Given the description of an element on the screen output the (x, y) to click on. 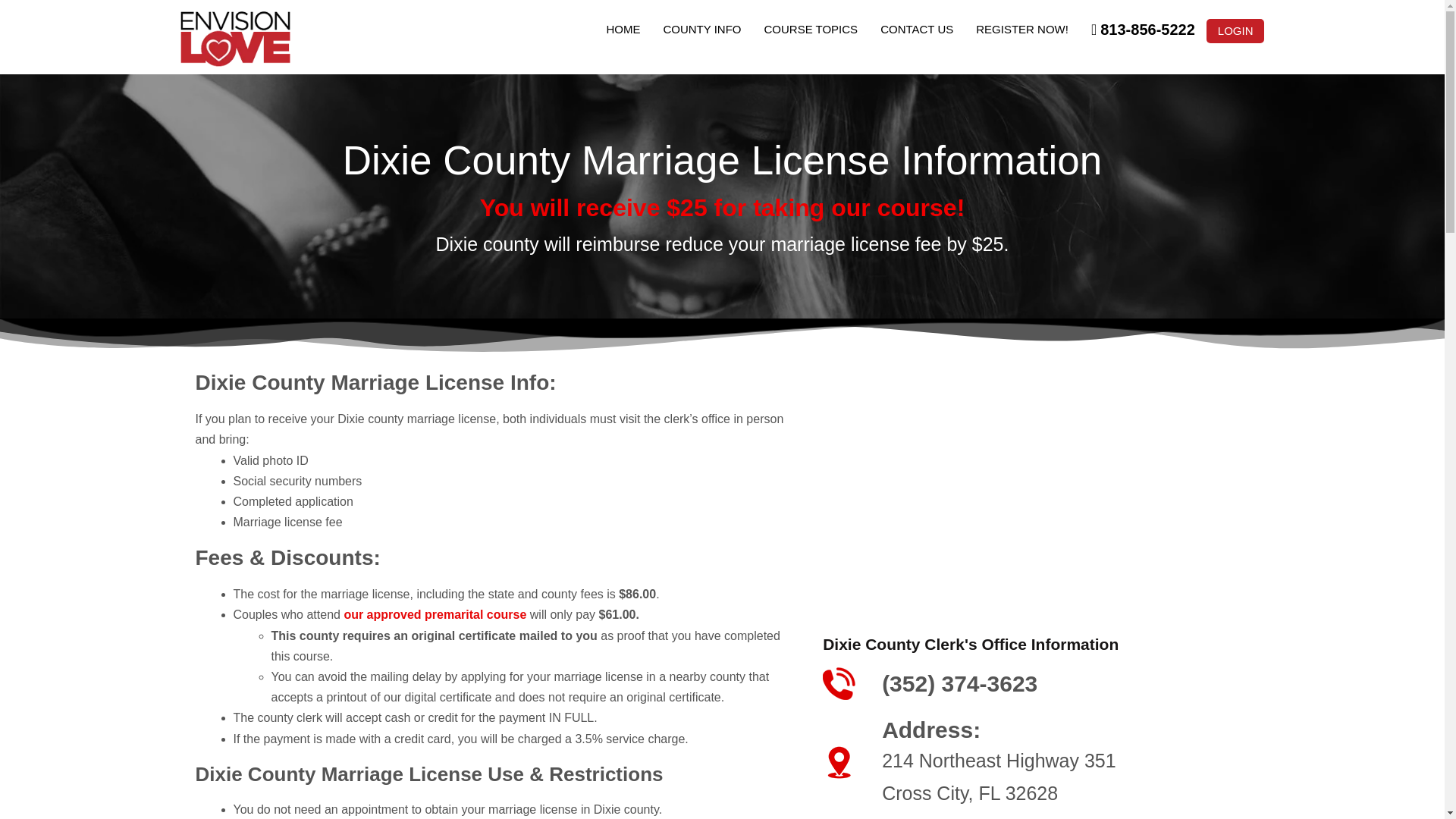
LOGIN (1236, 30)
214 Northeast Highway 351, Cross City, FL 32628 (1035, 485)
COURSE TOPICS (810, 29)
REGISTER NOW! (1021, 29)
Address: (930, 729)
CONTACT US (916, 29)
COUNTY INFO (701, 29)
813-856-5222 (1143, 29)
HOME (622, 29)
our approved premarital course (434, 614)
